Given the description of an element on the screen output the (x, y) to click on. 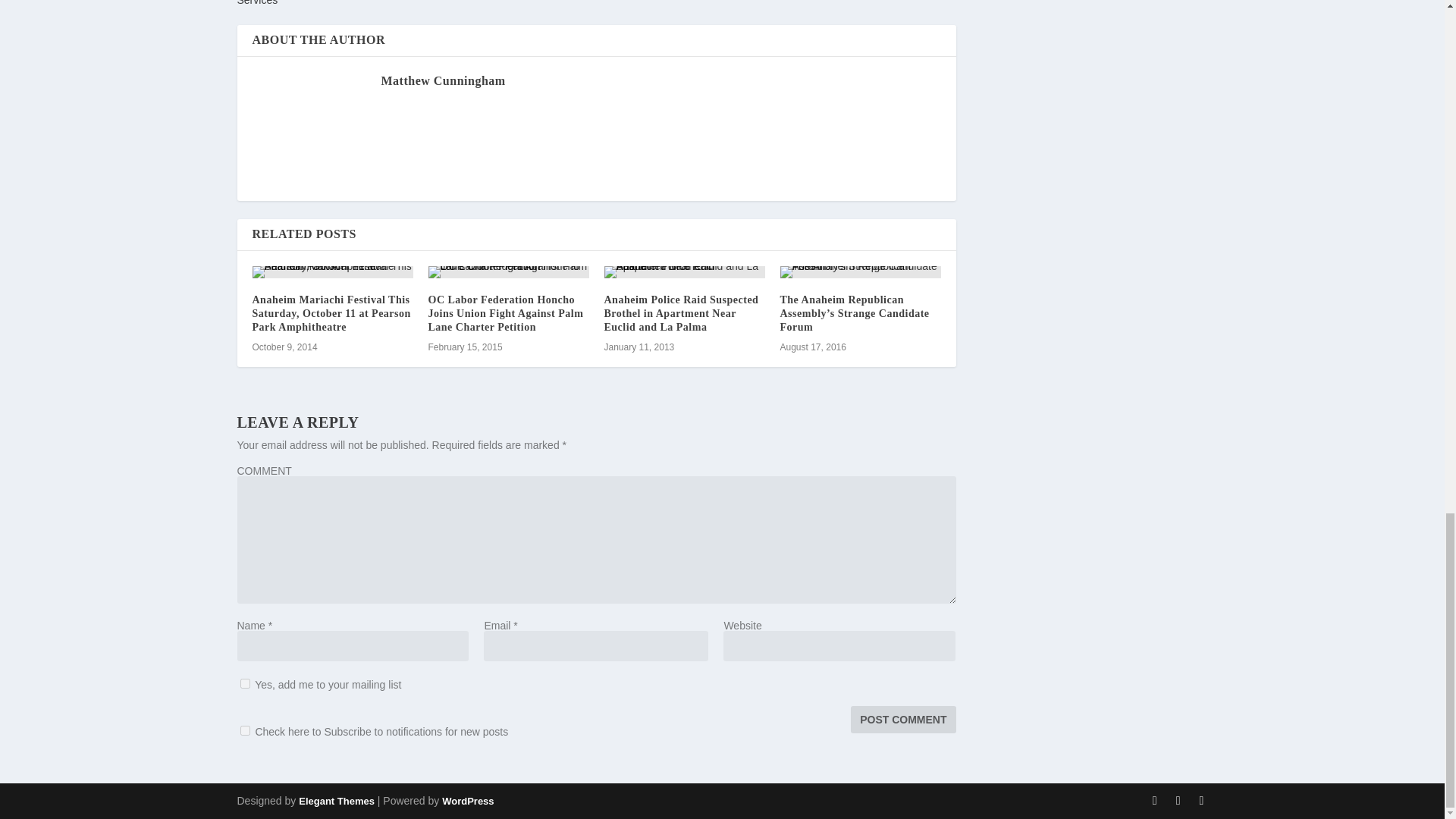
1 (244, 730)
Post Comment (902, 719)
Matthew Cunningham (442, 80)
1 (244, 683)
